Given the description of an element on the screen output the (x, y) to click on. 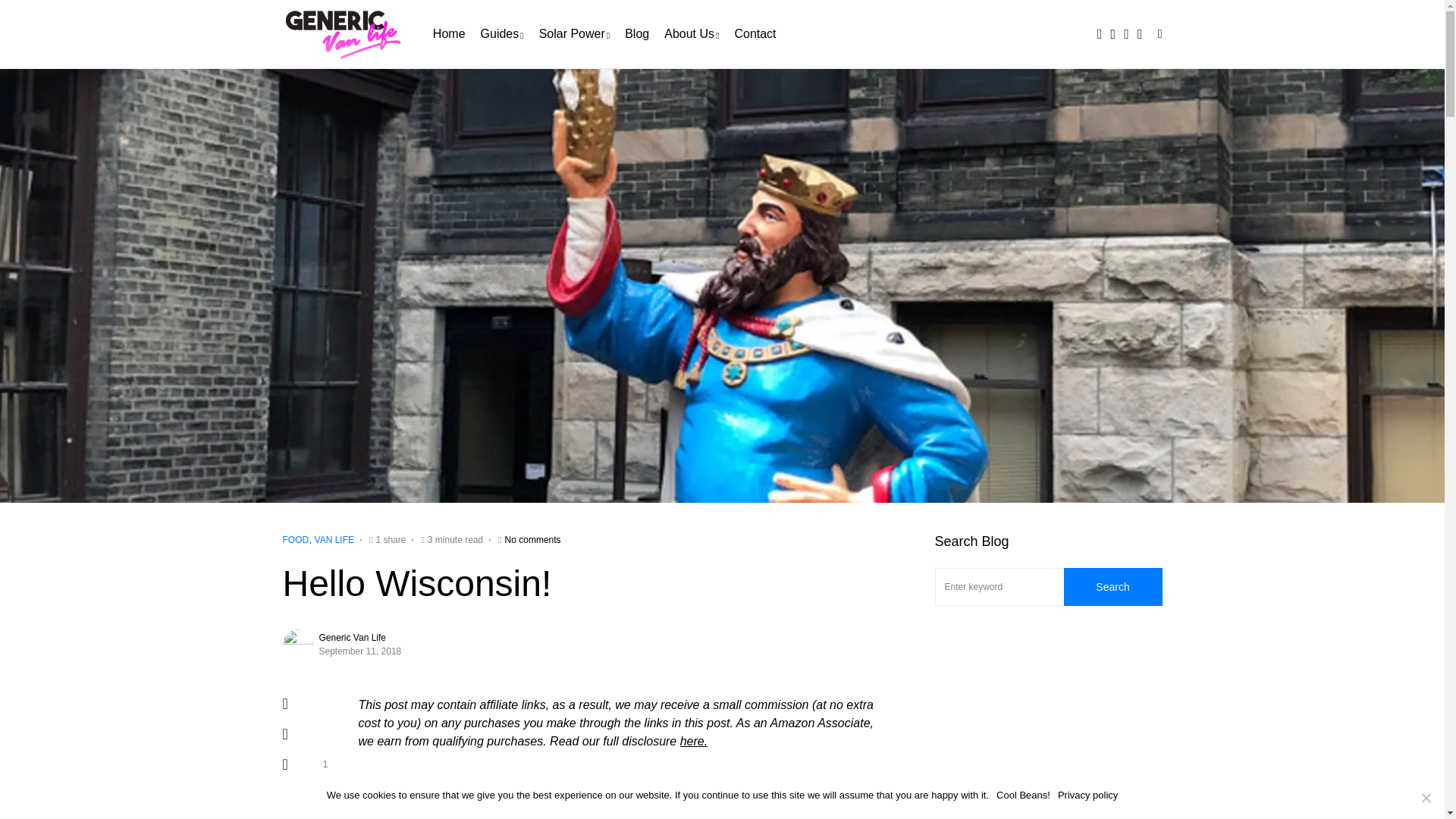
No (1425, 797)
Guides (502, 33)
Home (448, 33)
Advertisement (1047, 730)
